Given the description of an element on the screen output the (x, y) to click on. 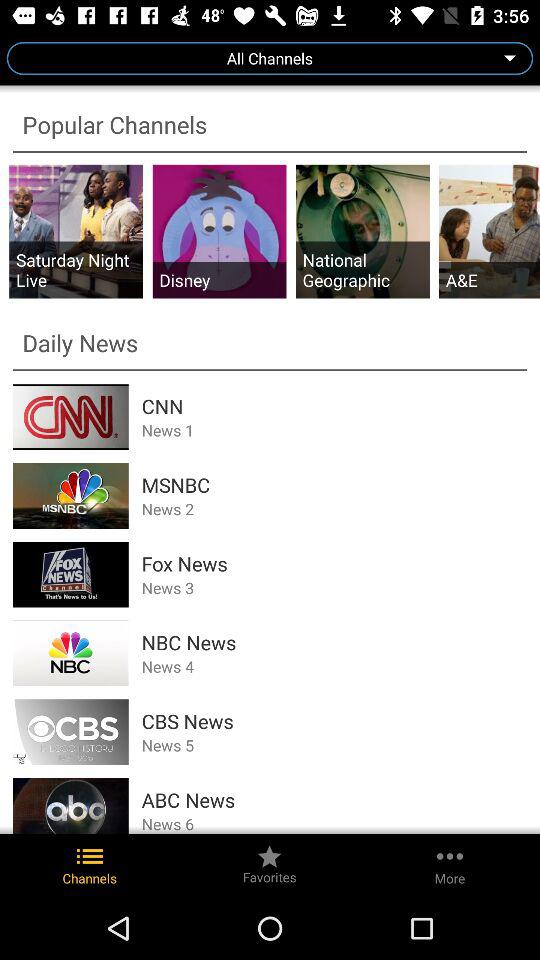
select icon below the news 2 icon (333, 563)
